Given the description of an element on the screen output the (x, y) to click on. 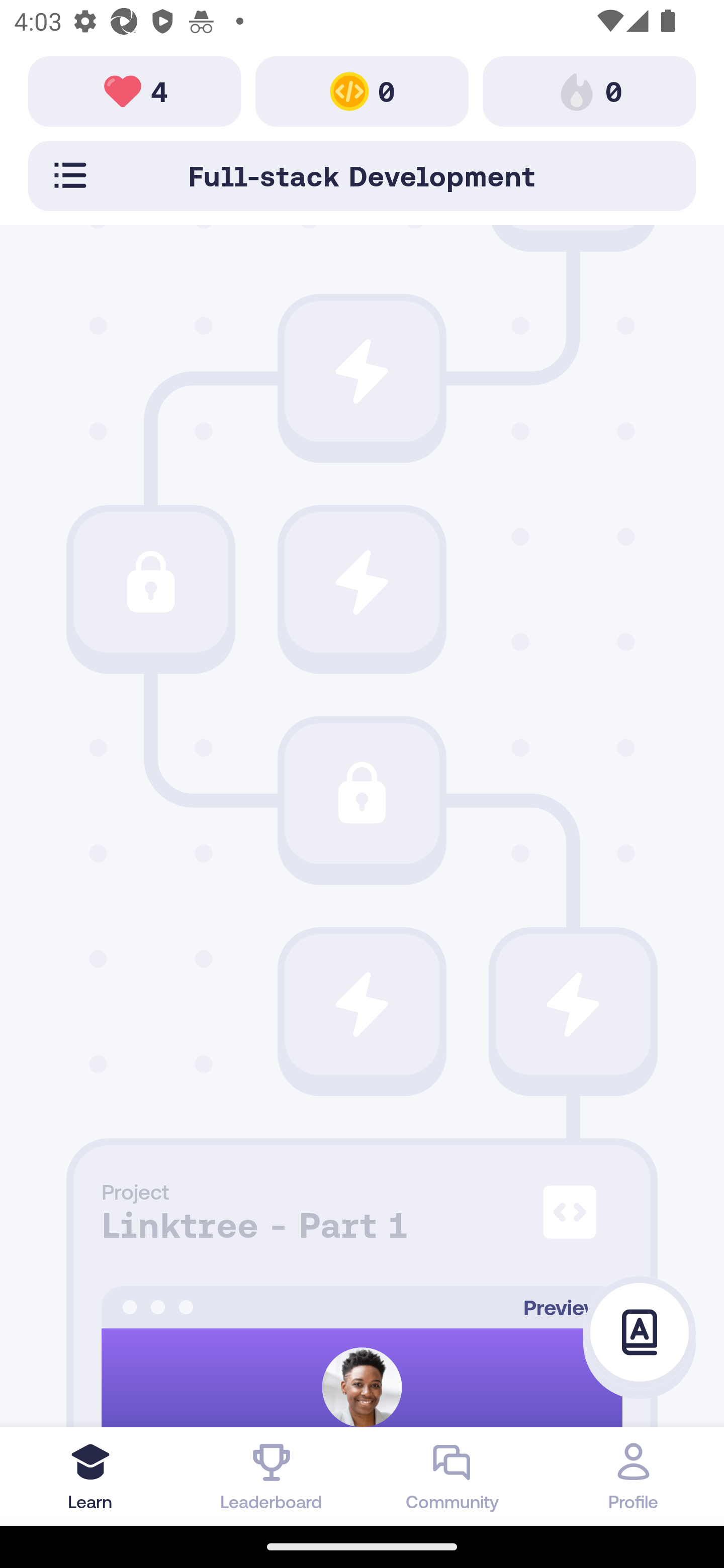
Path Toolbar Image 4 (134, 90)
Path Toolbar Image 0 (361, 90)
Path Toolbar Image 0 (588, 90)
Path Toolbar Selector Full-stack Development (361, 175)
Path Icon (361, 371)
Path Icon (150, 582)
Path Icon (361, 582)
Path Icon (361, 792)
Path Icon (361, 1004)
Path Icon (572, 1004)
Glossary Icon (639, 1332)
Leaderboard (271, 1475)
Community (452, 1475)
Profile (633, 1475)
